Given the description of an element on the screen output the (x, y) to click on. 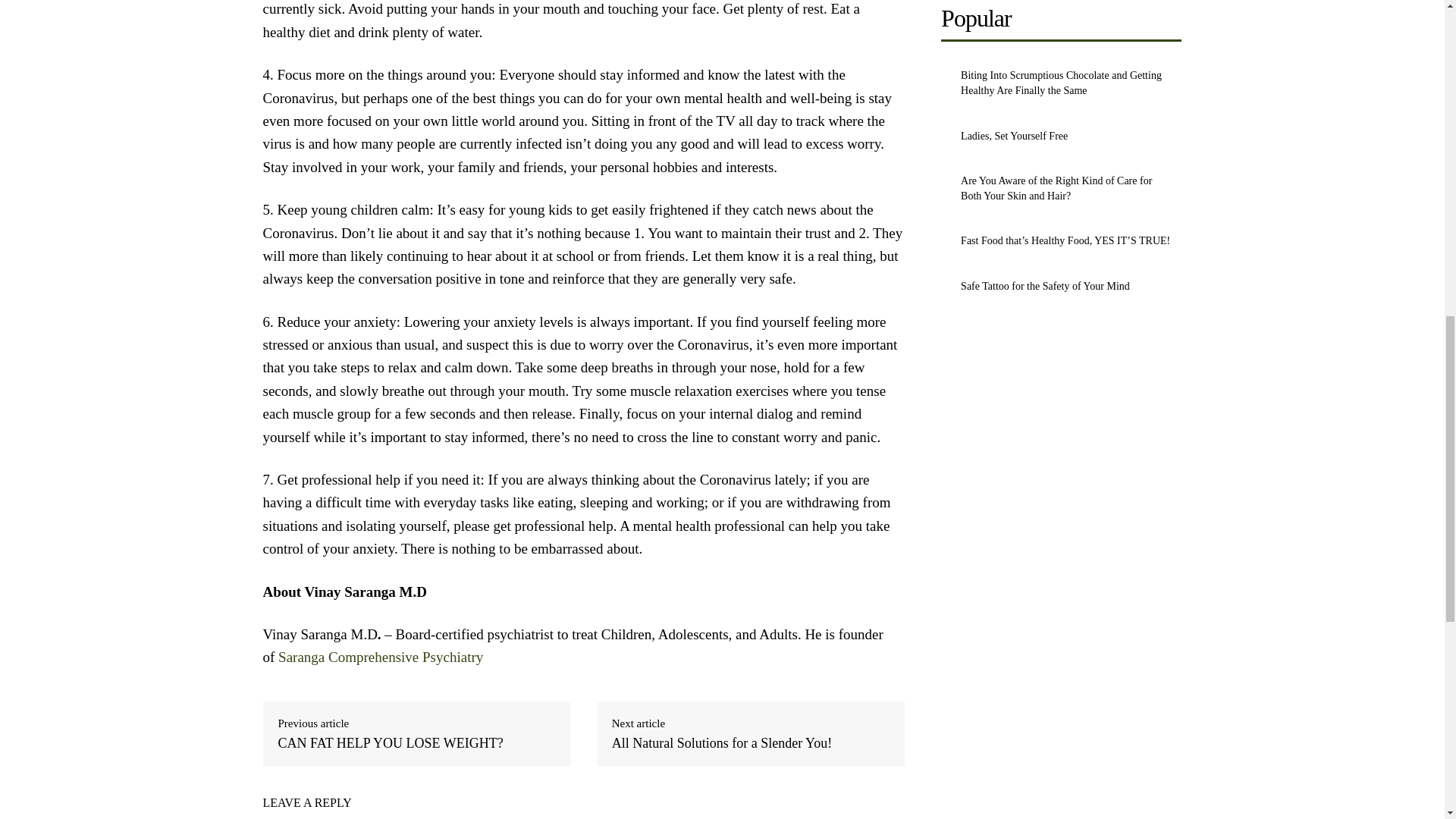
Saranga Comprehensive Psychiatry  (382, 657)
